Given the description of an element on the screen output the (x, y) to click on. 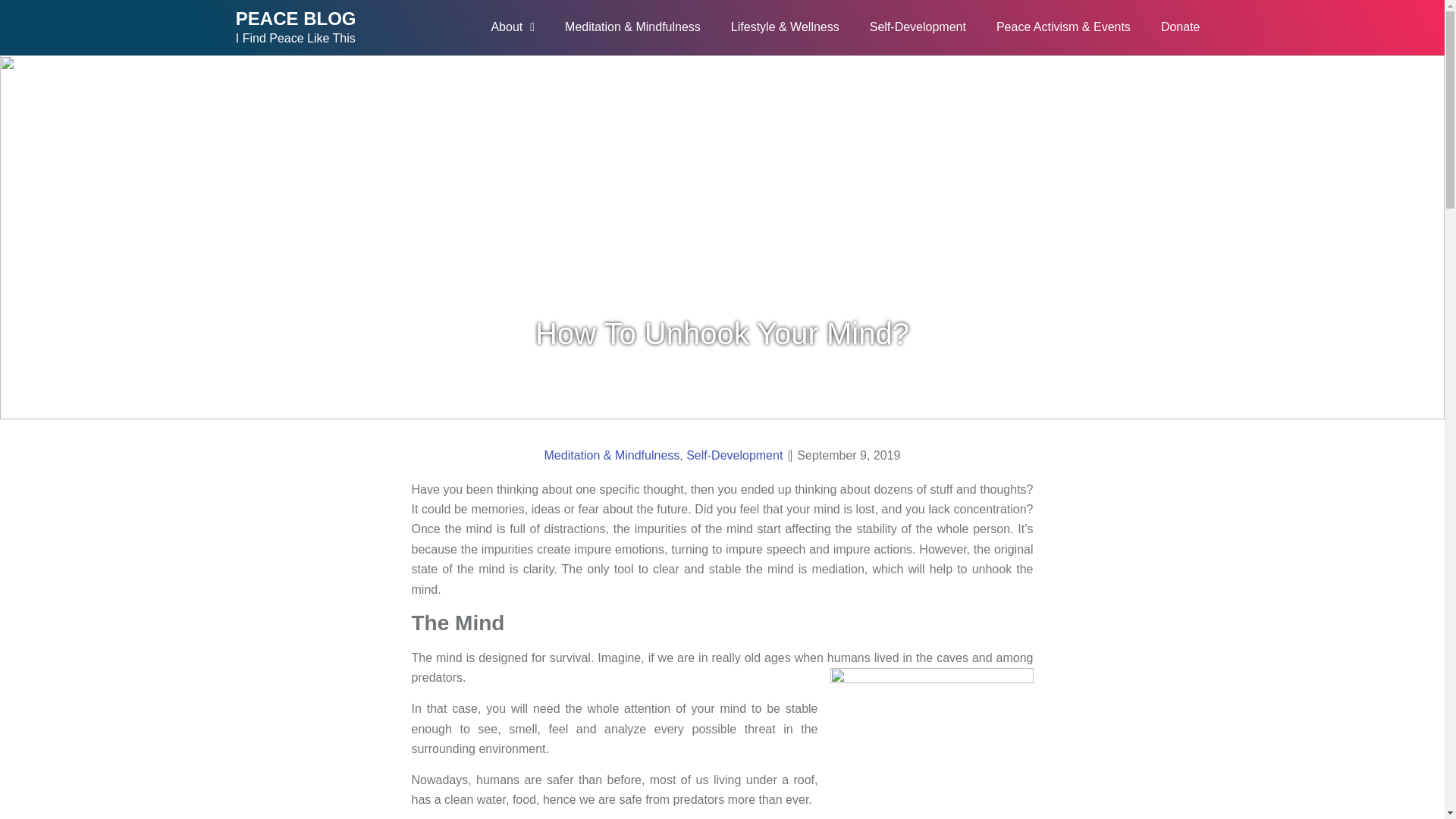
PEACE BLOG (295, 18)
Donate (1180, 27)
About (513, 27)
Self-Development (734, 453)
I Find Peace Like This (295, 38)
Self-Development (917, 27)
September 9, 2019 (847, 453)
